Given the description of an element on the screen output the (x, y) to click on. 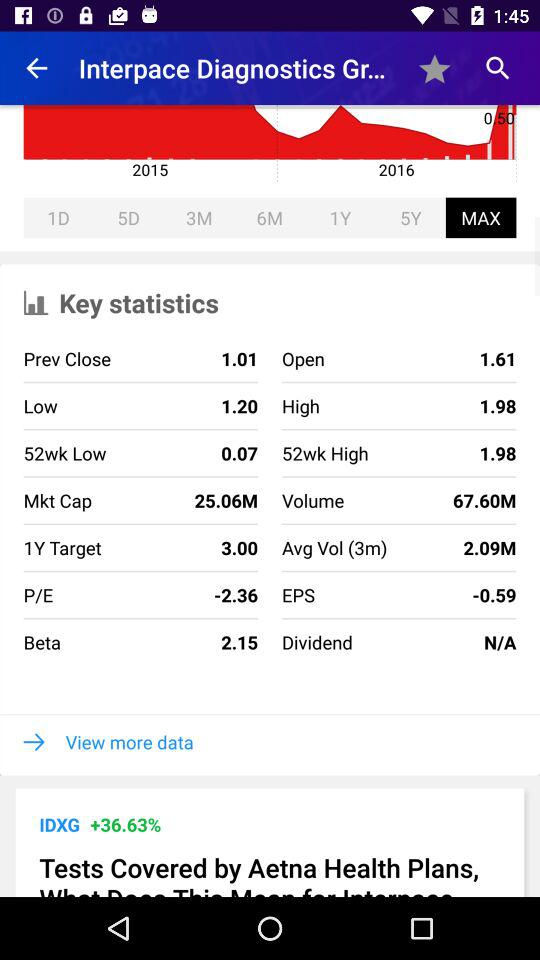
press beta (42, 642)
